Given the description of an element on the screen output the (x, y) to click on. 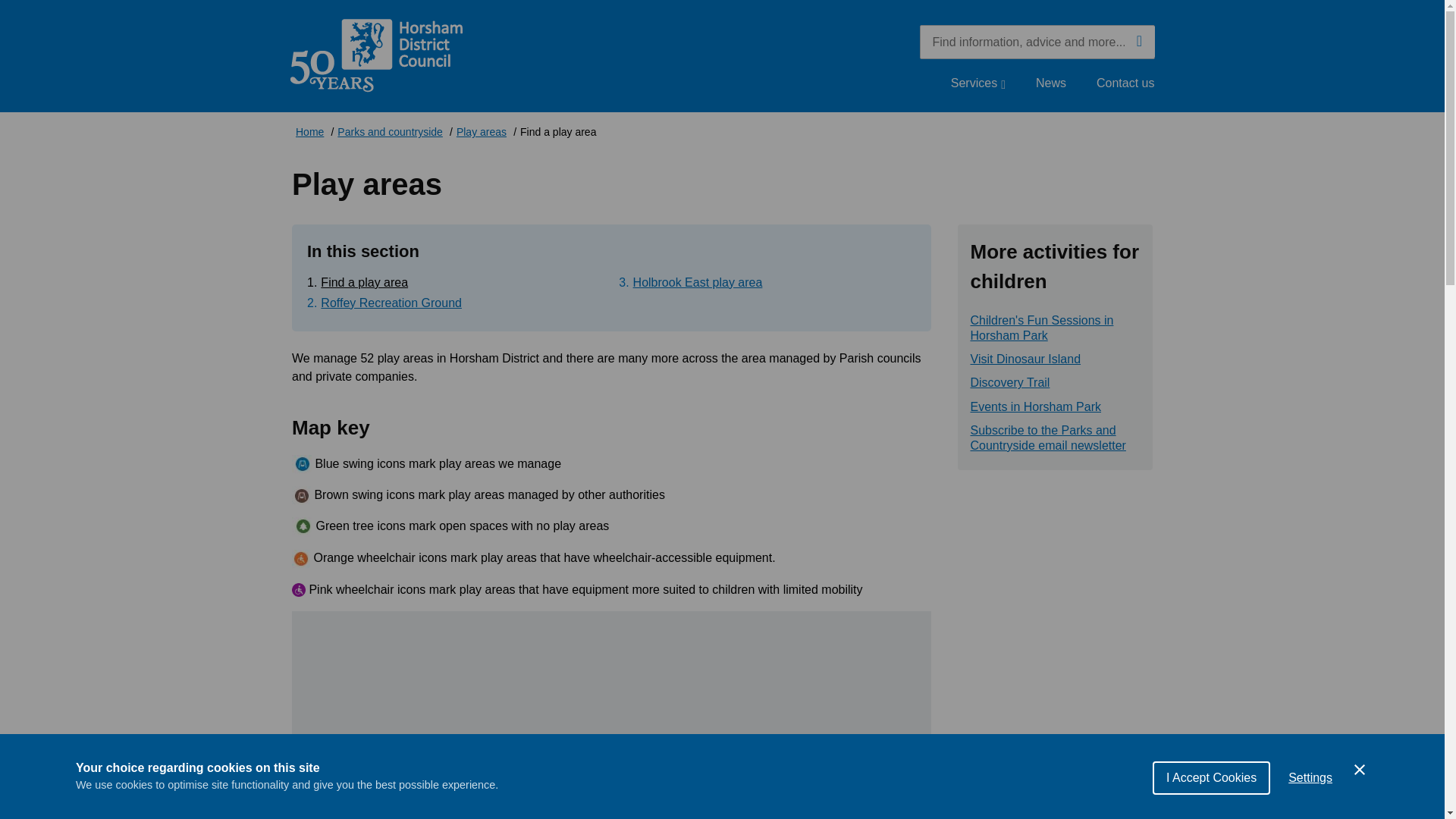
I Accept Cookies (1211, 794)
Services (978, 82)
News (1050, 82)
Events in Horsham Park (1036, 406)
Roffey Recreation Ground (390, 302)
Visit Dinosaur Island (1026, 359)
Children's Fun Sessions in Horsham Park (1055, 327)
Subscribe to the Parks and Countryside email newsletter (1055, 438)
Play areas (481, 133)
Find a play area (363, 282)
Holbrook East play area (697, 282)
Contact us (1125, 82)
Home (309, 133)
Settings (1309, 788)
Parks and countryside (389, 133)
